Given the description of an element on the screen output the (x, y) to click on. 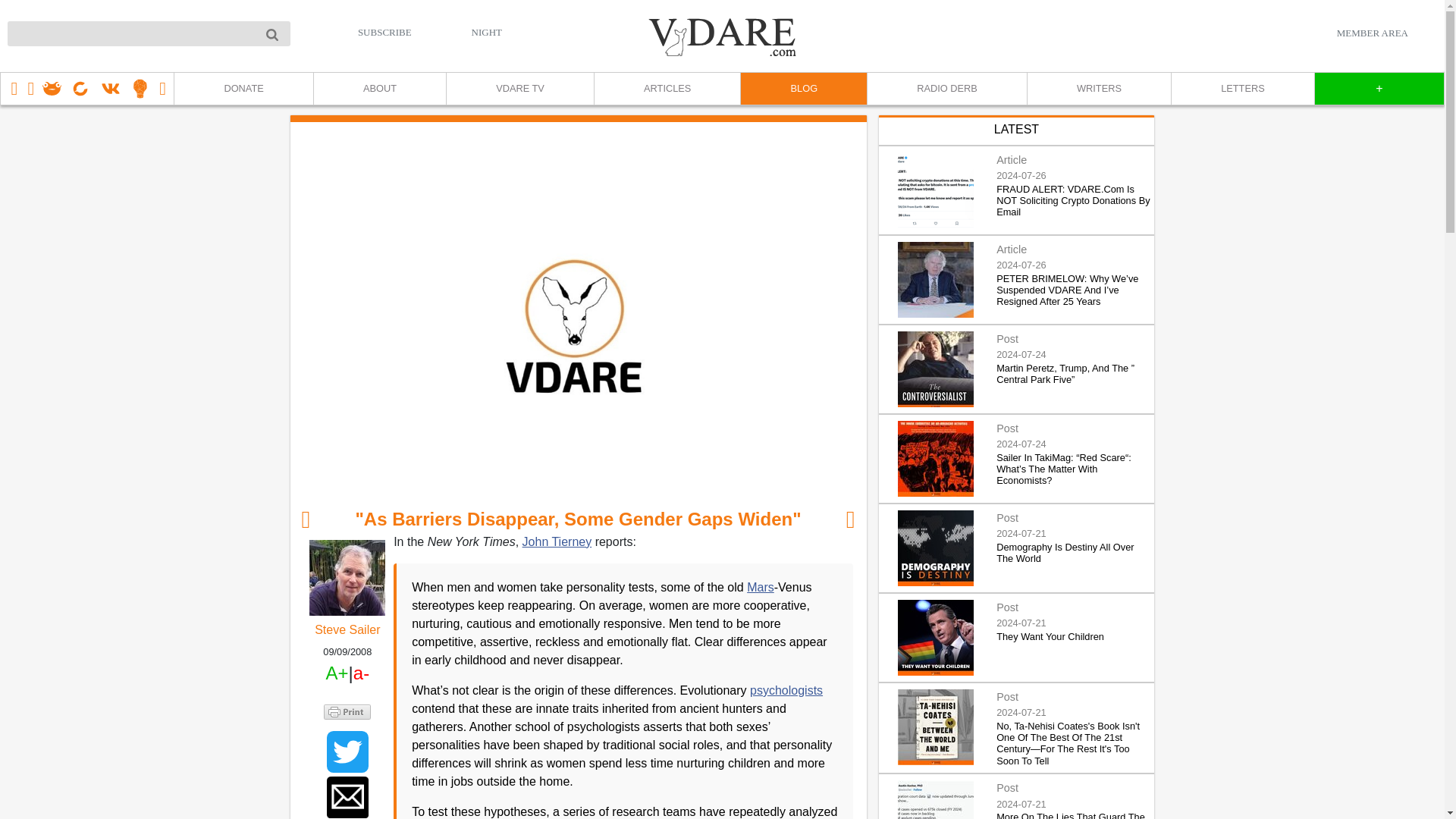
LETTERS (1242, 88)
DONATE (243, 88)
WRITERS (1098, 88)
RADIO DERB (946, 88)
Printer Friendly and PDF (347, 710)
ABOUT (379, 88)
VDARE TV (519, 88)
Share to Twitter (347, 752)
Recent and archival health news about psychologists. (785, 689)
SUBSCRIBE (385, 31)
